Given the description of an element on the screen output the (x, y) to click on. 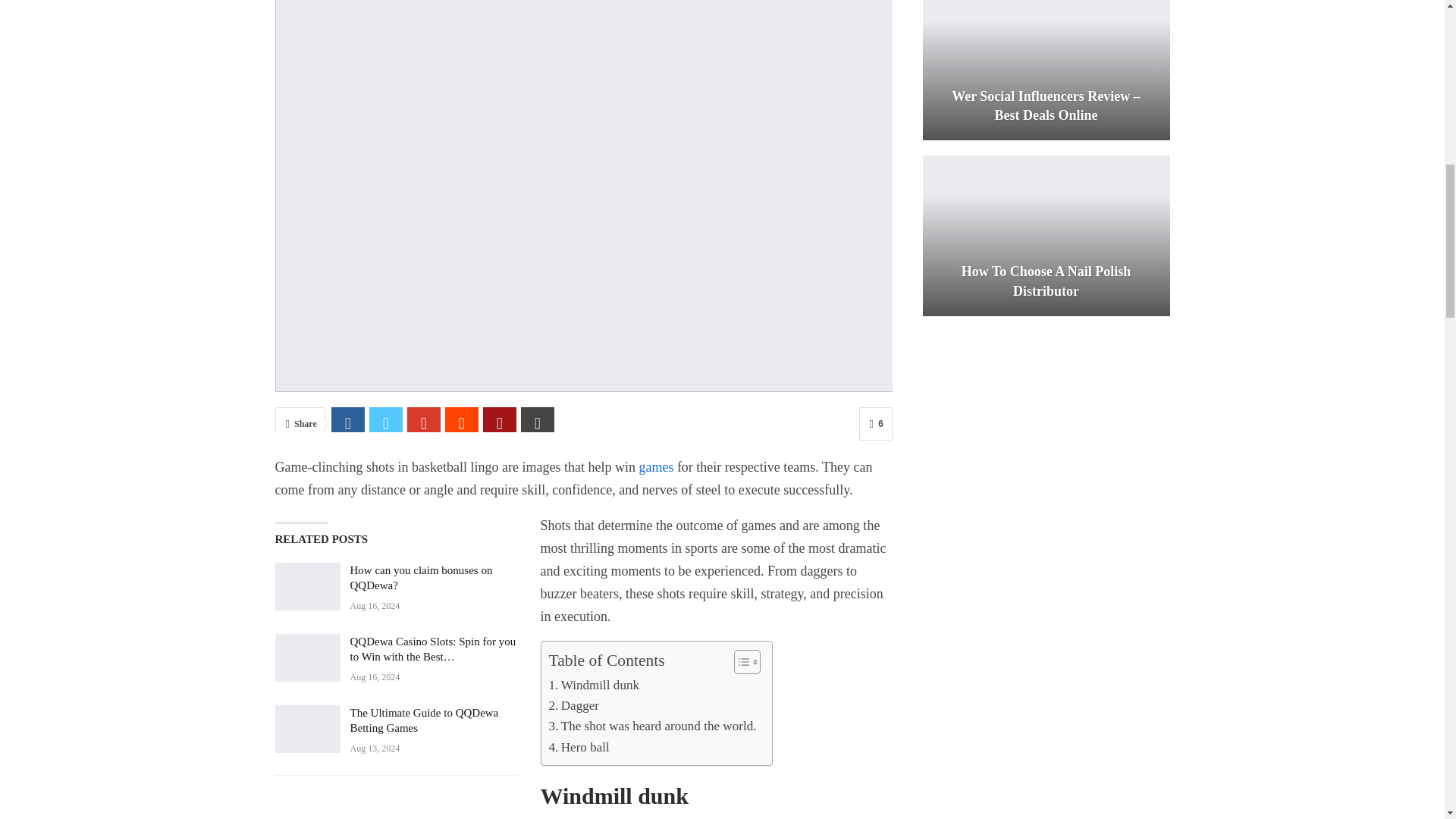
How can you claim bonuses on QQDewa? (307, 586)
Dagger (573, 705)
Hero ball (579, 747)
Windmill dunk (594, 684)
The shot was heard around the world. (652, 725)
The Ultimate Guide to QQDewa Betting Games (307, 729)
